Given the description of an element on the screen output the (x, y) to click on. 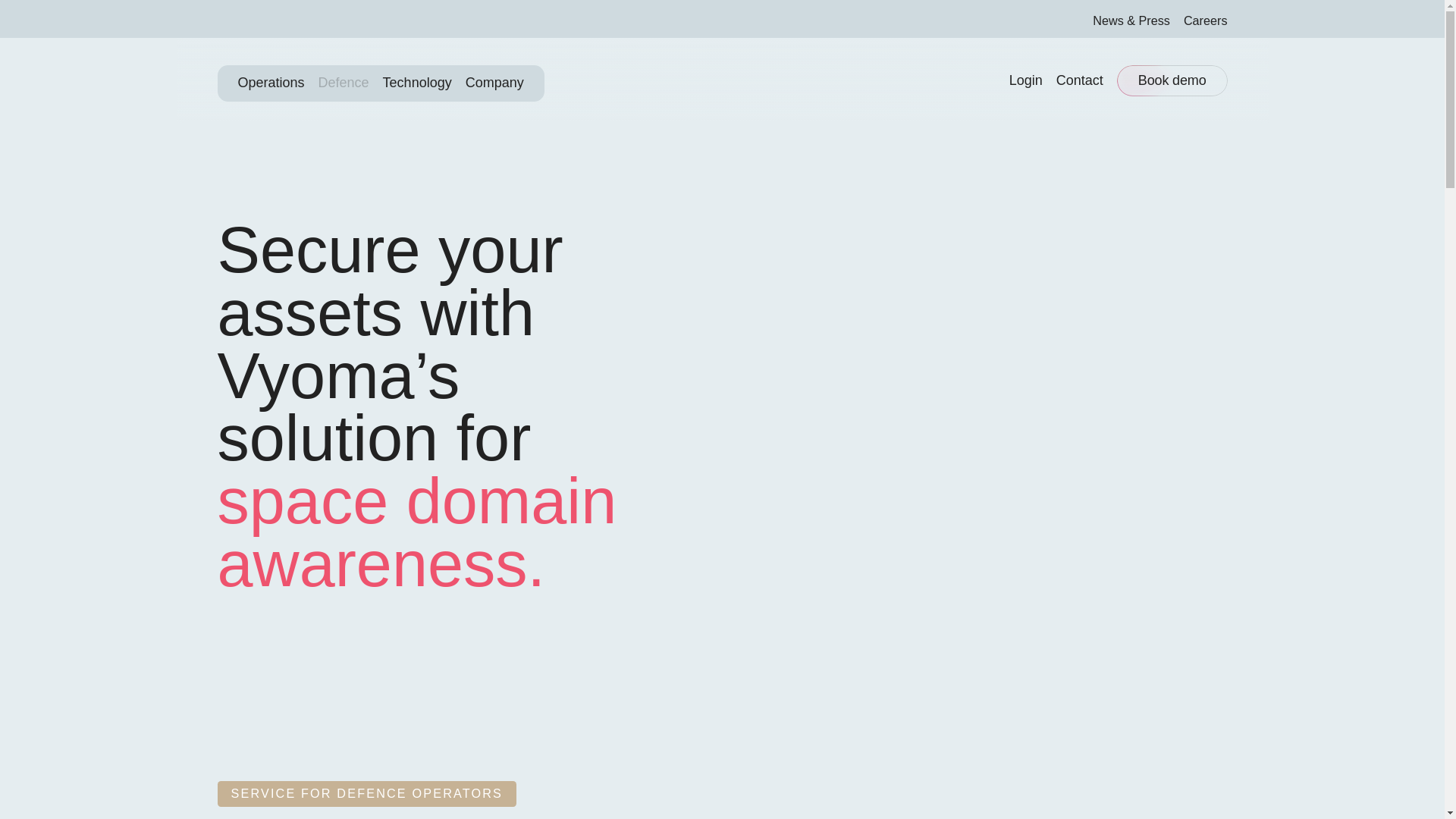
Company (494, 83)
Contact (1080, 80)
Careers (1205, 20)
Book demo (1171, 81)
Operations (271, 83)
Login (1025, 80)
Technology (416, 83)
Defence (343, 83)
